Given the description of an element on the screen output the (x, y) to click on. 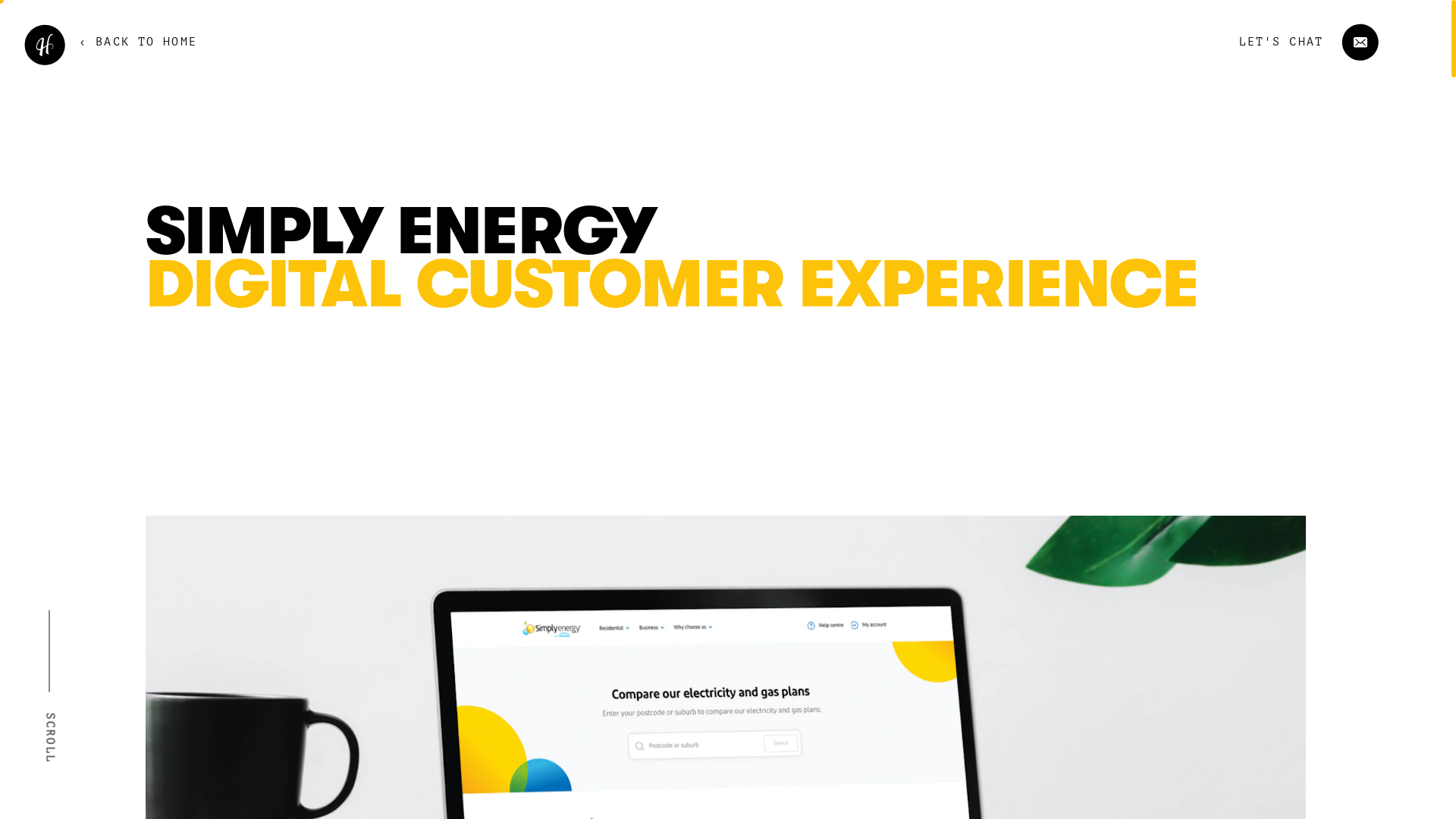
LET'S CHAT
Chat Button Created with Sketch. Element type: text (1290, 41)
